Given the description of an element on the screen output the (x, y) to click on. 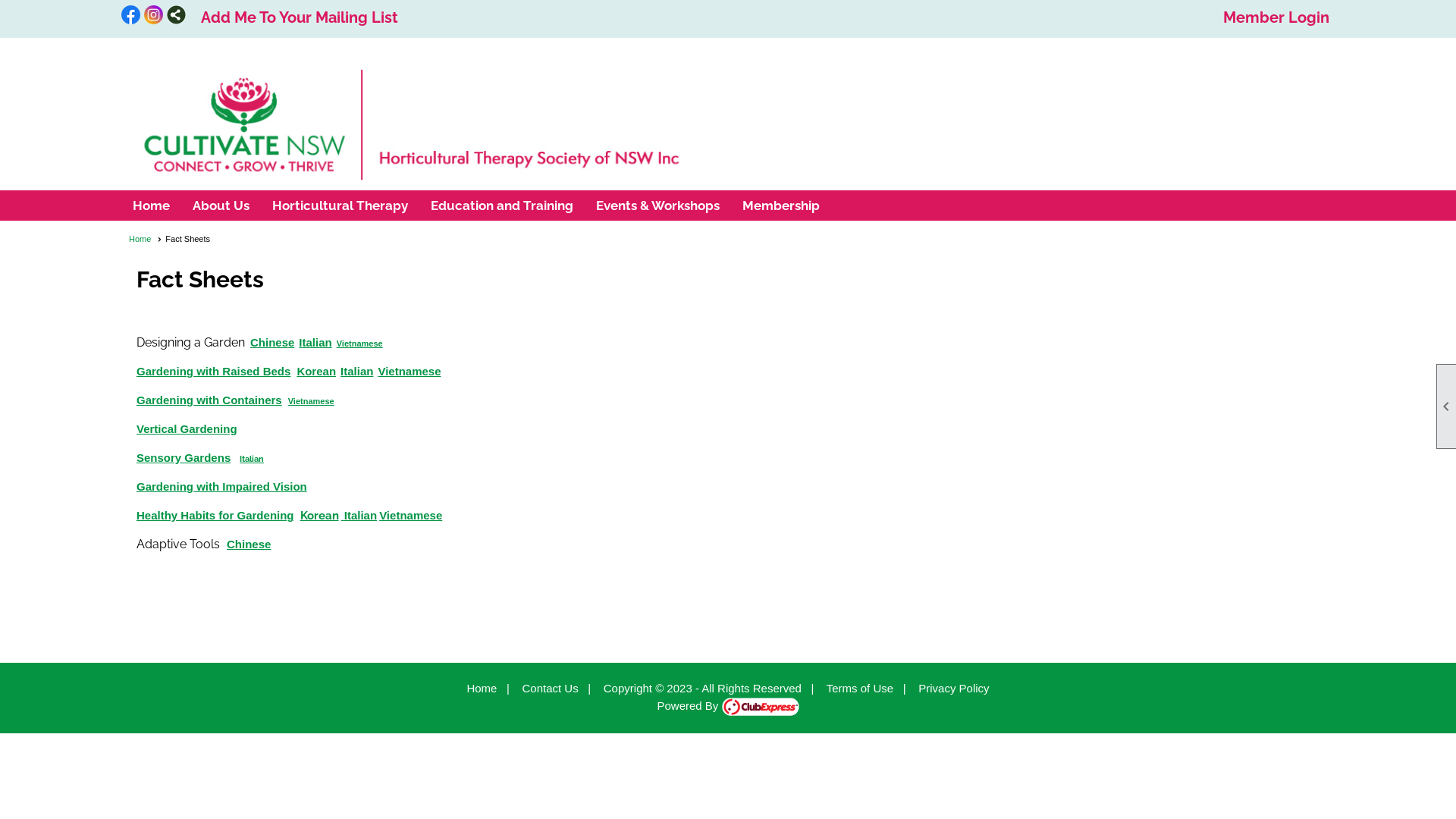
Chinese Element type: text (272, 341)
Healthy Habits for Gardening Element type: text (215, 514)
Korean Element type: text (319, 515)
Vietnamese Element type: text (311, 399)
Privacy Policy Element type: text (953, 687)
Vietnamese Element type: text (410, 514)
Click here for more sharing options Element type: hover (175, 14)
Home Element type: text (151, 205)
Italian Element type: text (356, 370)
Vietnamese Element type: text (408, 370)
Visit us on Facebook Element type: hover (130, 15)
Italian Element type: text (360, 514)
Italian Element type: text (251, 457)
Visit us on Instagram Element type: hover (153, 15)
Gardening with Containers Element type: text (209, 399)
Education and Training Element type: text (501, 205)
Vietnamese Element type: text (359, 341)
Vertical Gardening Element type: text (186, 428)
Member Login Element type: text (1276, 17)
Add Me To Your Mailing List Element type: text (299, 17)
Chinese Element type: text (248, 543)
Sensory Gardens Element type: text (183, 457)
Italian Element type: text (314, 341)
Home Element type: text (144, 238)
Terms of Use Element type: text (859, 687)
Gardening with Raised Beds Element type: text (213, 370)
Events & Workshops Element type: text (657, 205)
Powered By  Element type: text (727, 705)
Contact Us Element type: text (549, 687)
Korean Element type: text (315, 370)
  Element type: text (342, 514)
Gardening with Impaired Vision Element type: text (221, 486)
Home Element type: text (481, 687)
